Given the description of an element on the screen output the (x, y) to click on. 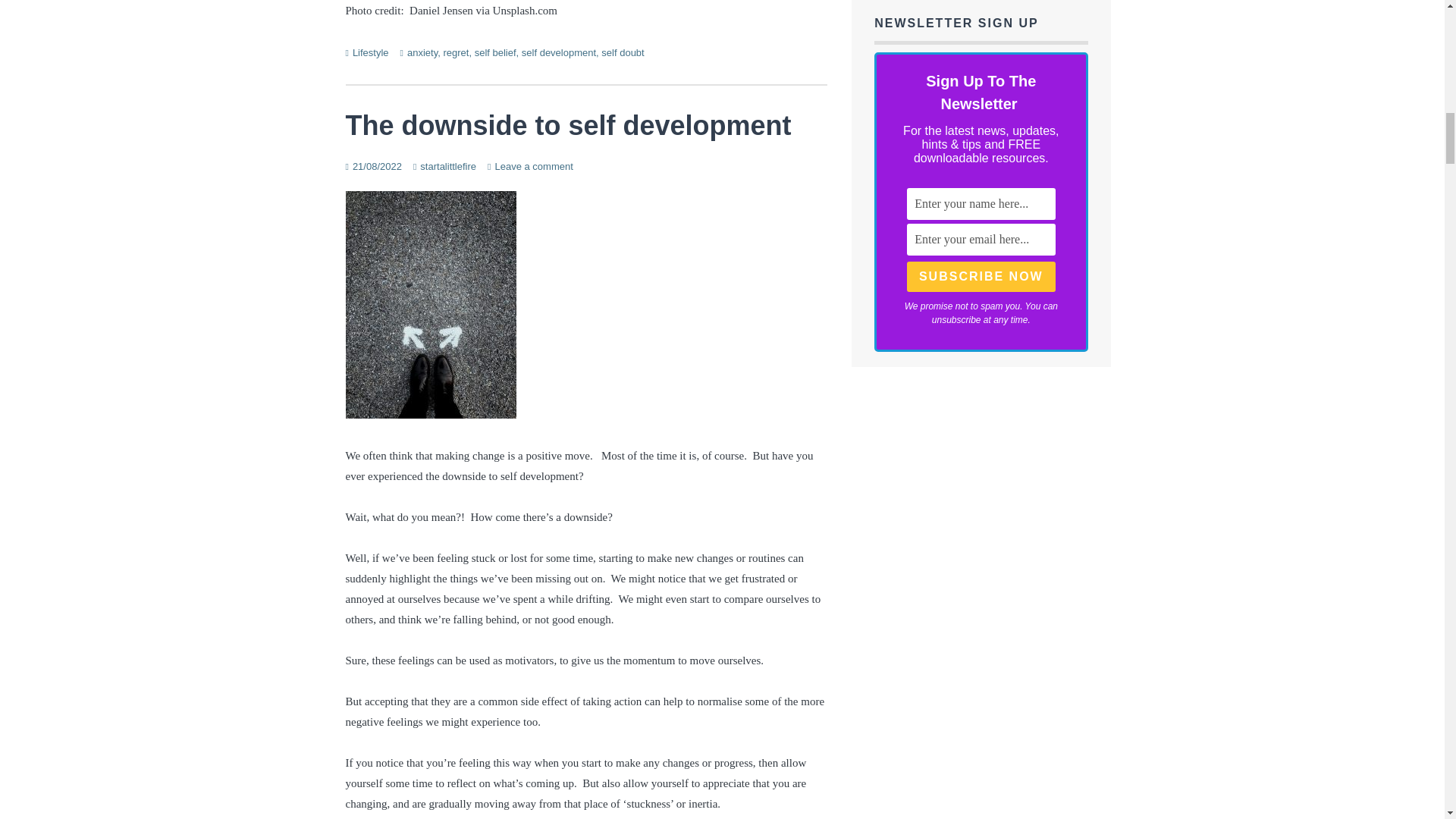
self development (558, 52)
anxiety (422, 52)
Subscribe Now (980, 276)
startalittlefire (448, 165)
The downside to self development (569, 124)
Lifestyle (370, 52)
Leave a comment (533, 165)
self belief (495, 52)
regret (455, 52)
self doubt (622, 52)
